Given the description of an element on the screen output the (x, y) to click on. 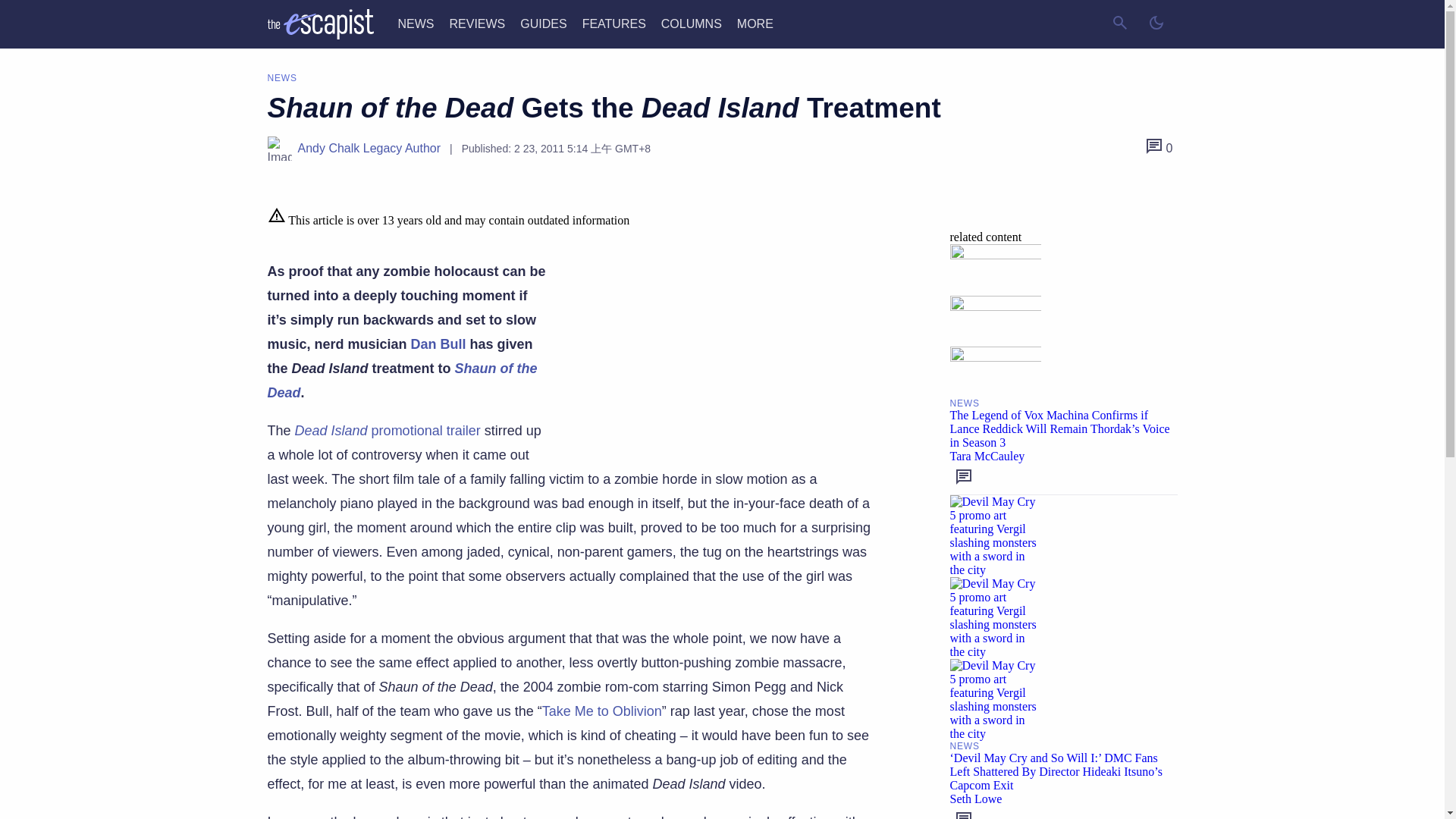
GUIDES (542, 23)
REVIEWS (476, 23)
FEATURES (614, 23)
Search (1118, 23)
COLUMNS (691, 23)
Dark Mode (1155, 23)
NEWS (415, 23)
